Given the description of an element on the screen output the (x, y) to click on. 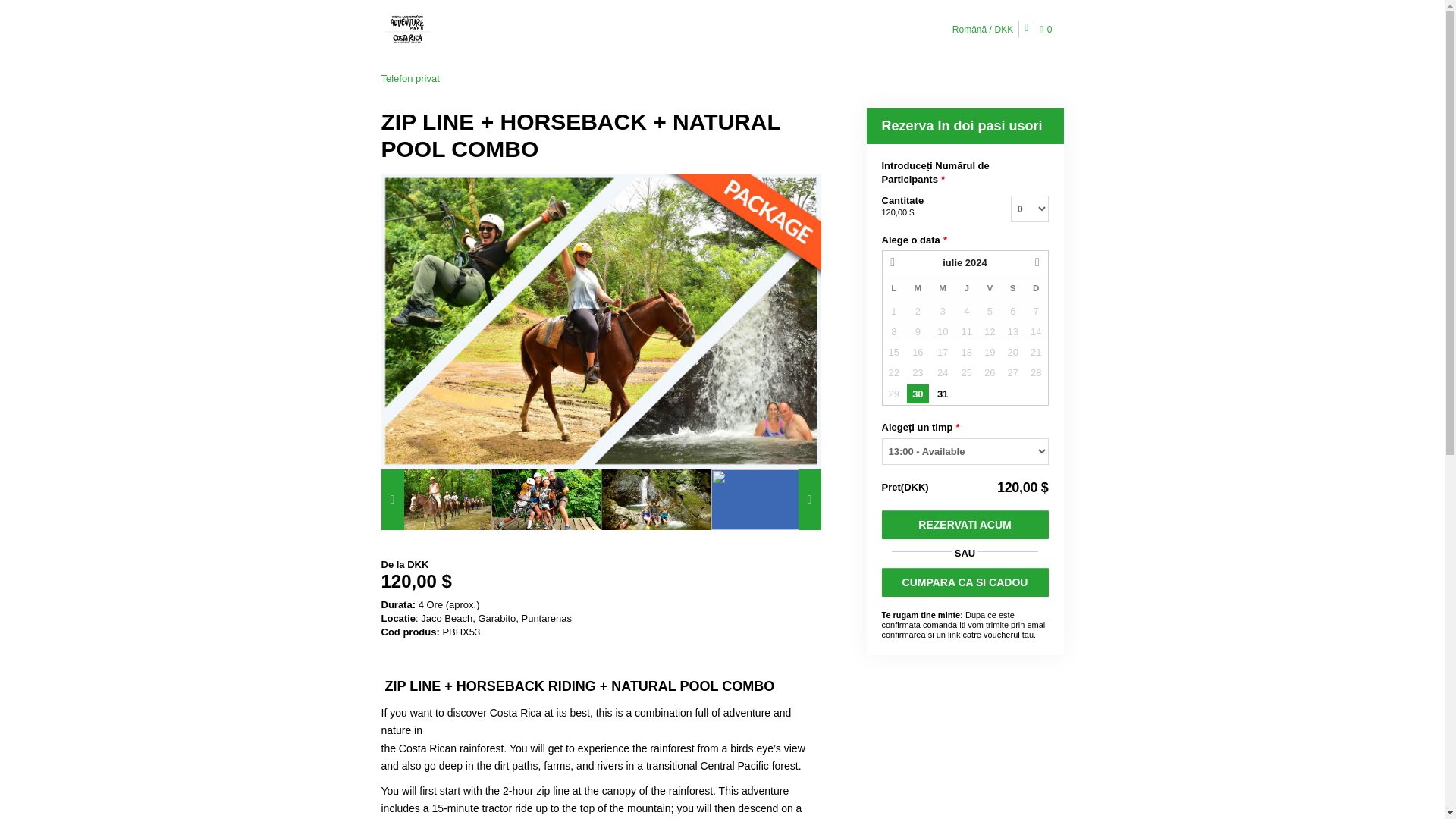
Not available (1036, 311)
0 (1047, 30)
Not available (942, 311)
Not available (989, 311)
Not available (893, 311)
Not available (1013, 311)
Not available (917, 311)
Not available (966, 311)
